Given the description of an element on the screen output the (x, y) to click on. 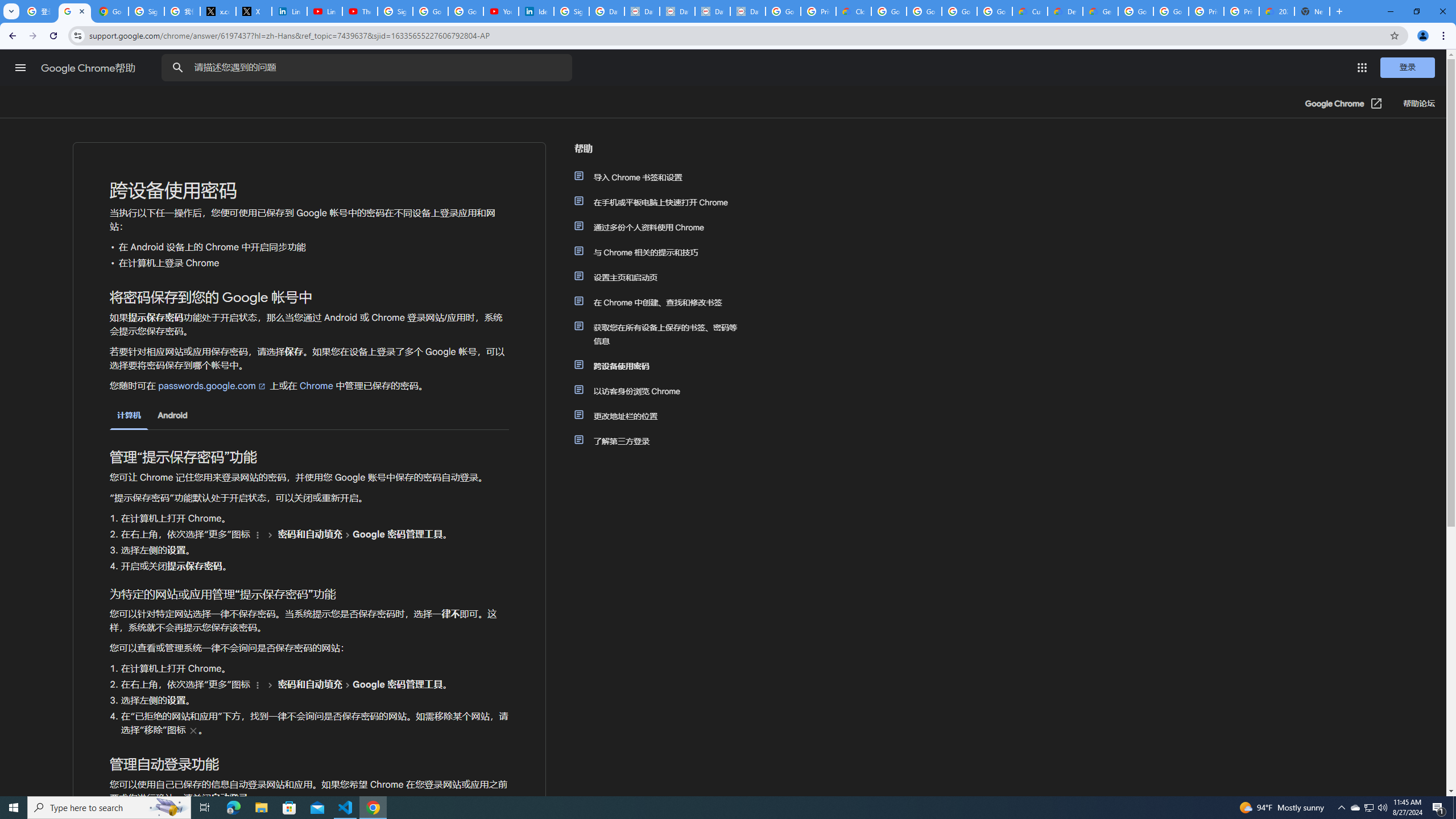
Gemini for Business and Developers | Google Cloud (1099, 11)
